Given the description of an element on the screen output the (x, y) to click on. 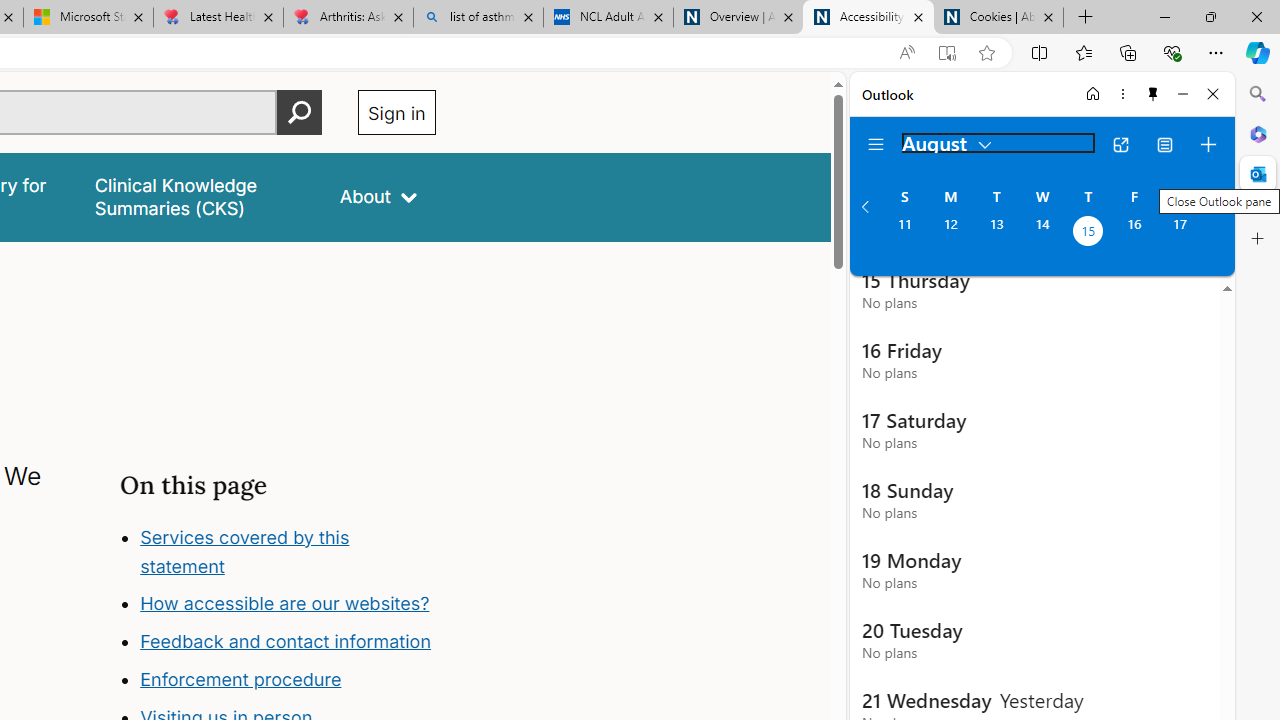
View Switcher. Current view is Agenda view (1165, 144)
Create event (1208, 144)
Close Customize pane (1258, 239)
Accessibility | NICE (868, 17)
About (378, 196)
Wednesday, August 14, 2024.  (1042, 233)
How accessible are our websites? (287, 604)
Arthritis: Ask Health Professionals (348, 17)
Friday, August 16, 2024.  (1134, 233)
Saturday, August 17, 2024.  (1180, 233)
Services covered by this statement (287, 551)
